Given the description of an element on the screen output the (x, y) to click on. 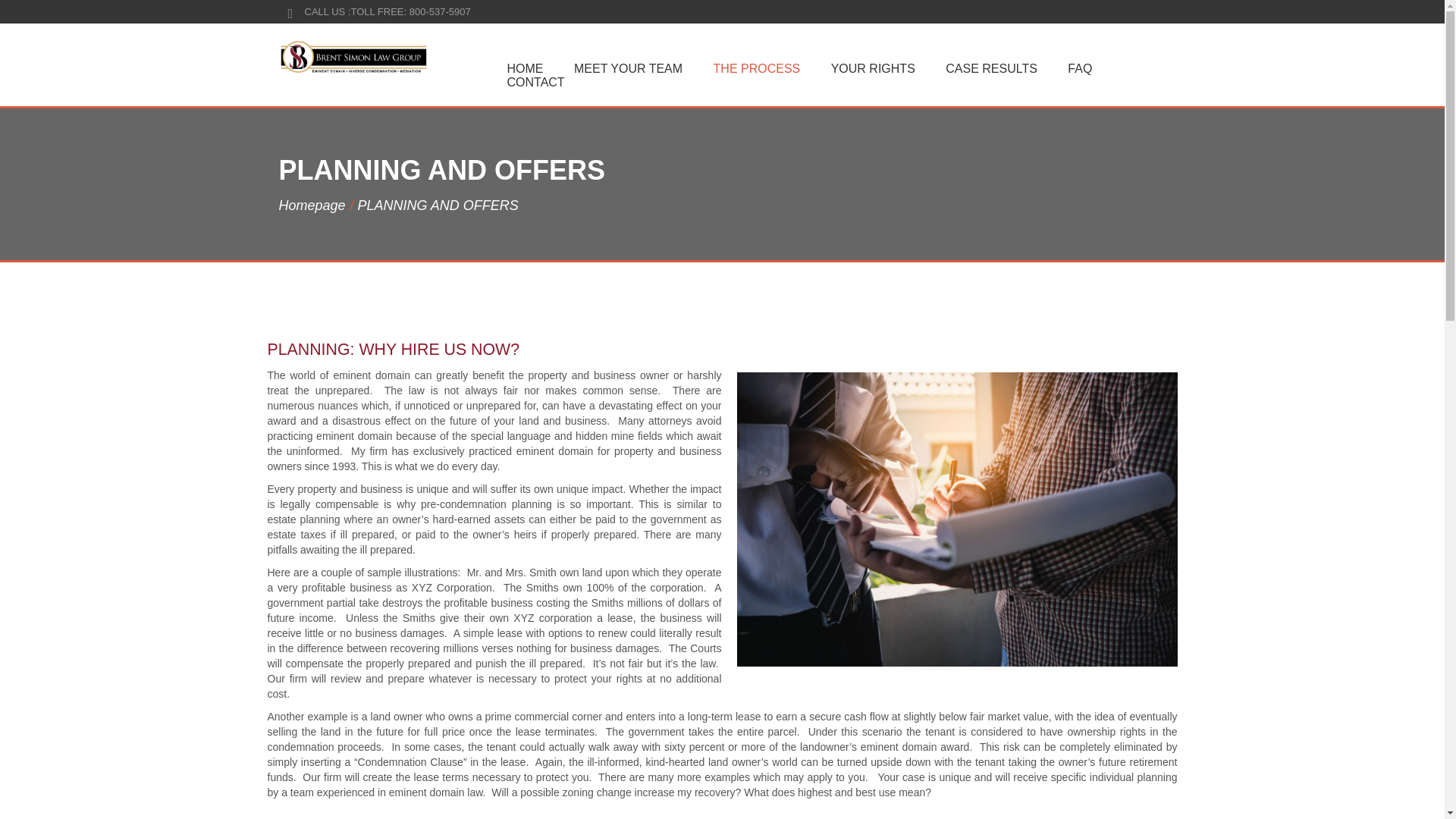
THE PROCESS (752, 68)
CONTACT (530, 82)
YOUR RIGHTS (868, 68)
CASE RESULTS (986, 68)
Homepage (311, 204)
HOME (520, 68)
MEET YOUR TEAM (623, 68)
FAQ (1075, 68)
TOLL FREE: 800-537-5907 (410, 11)
